Given the description of an element on the screen output the (x, y) to click on. 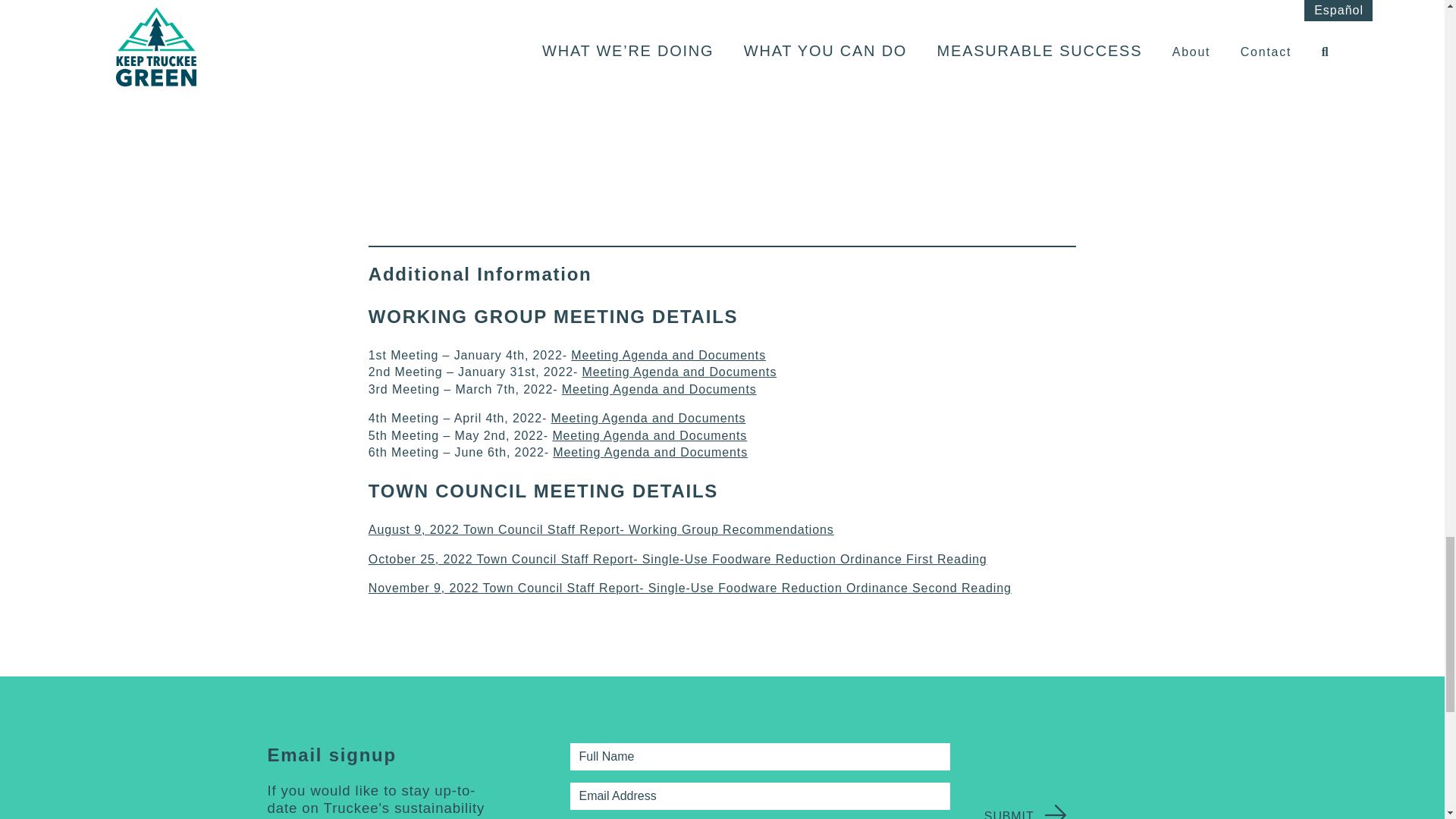
Single-Use Foodware Reduction Community Survey (558, 129)
Submit (1009, 814)
